Given the description of an element on the screen output the (x, y) to click on. 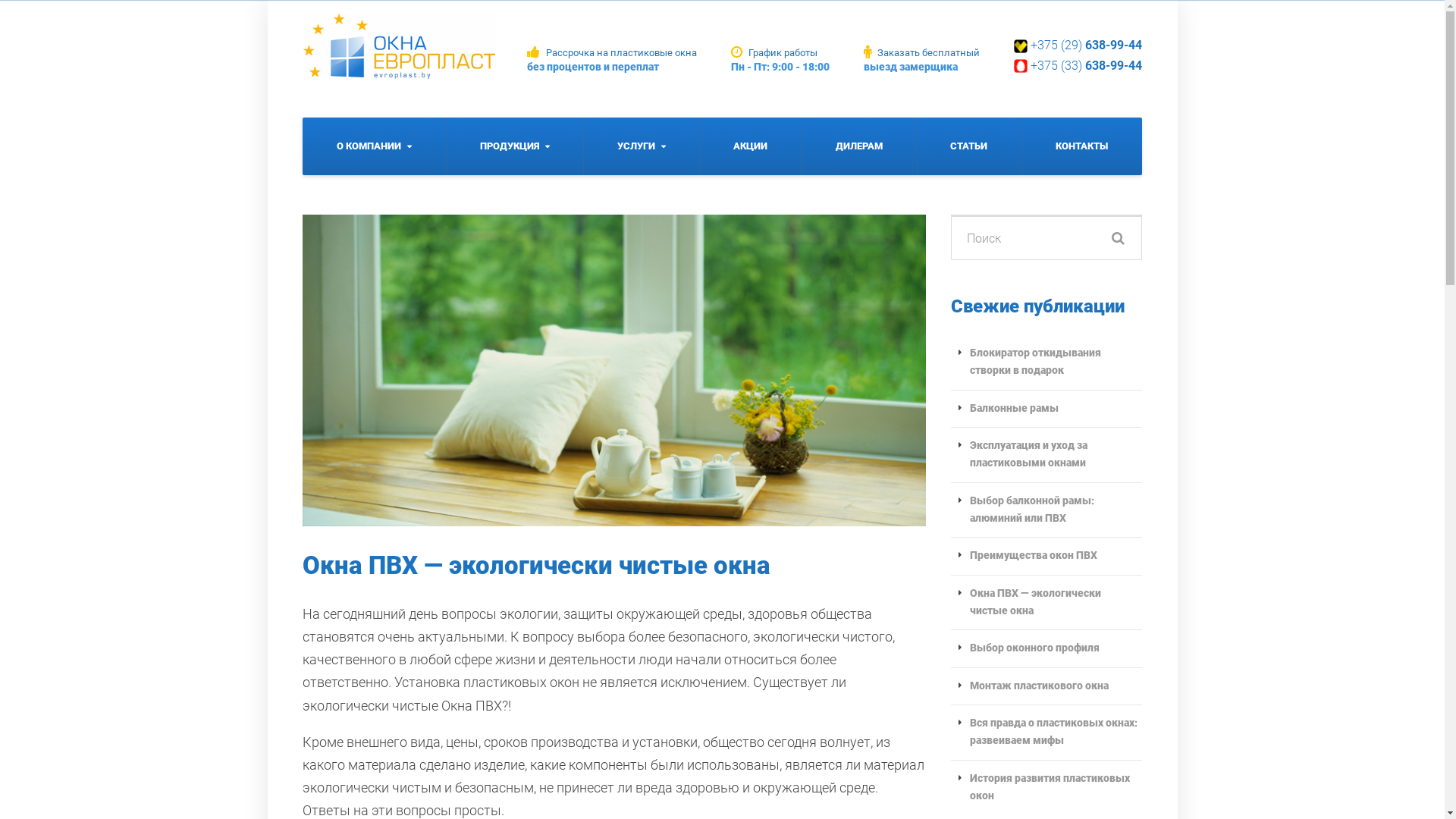
+375 (29) 638-99-44 Element type: text (1086, 44)
+375 (33) 638-99-44 Element type: text (1086, 65)
